Given the description of an element on the screen output the (x, y) to click on. 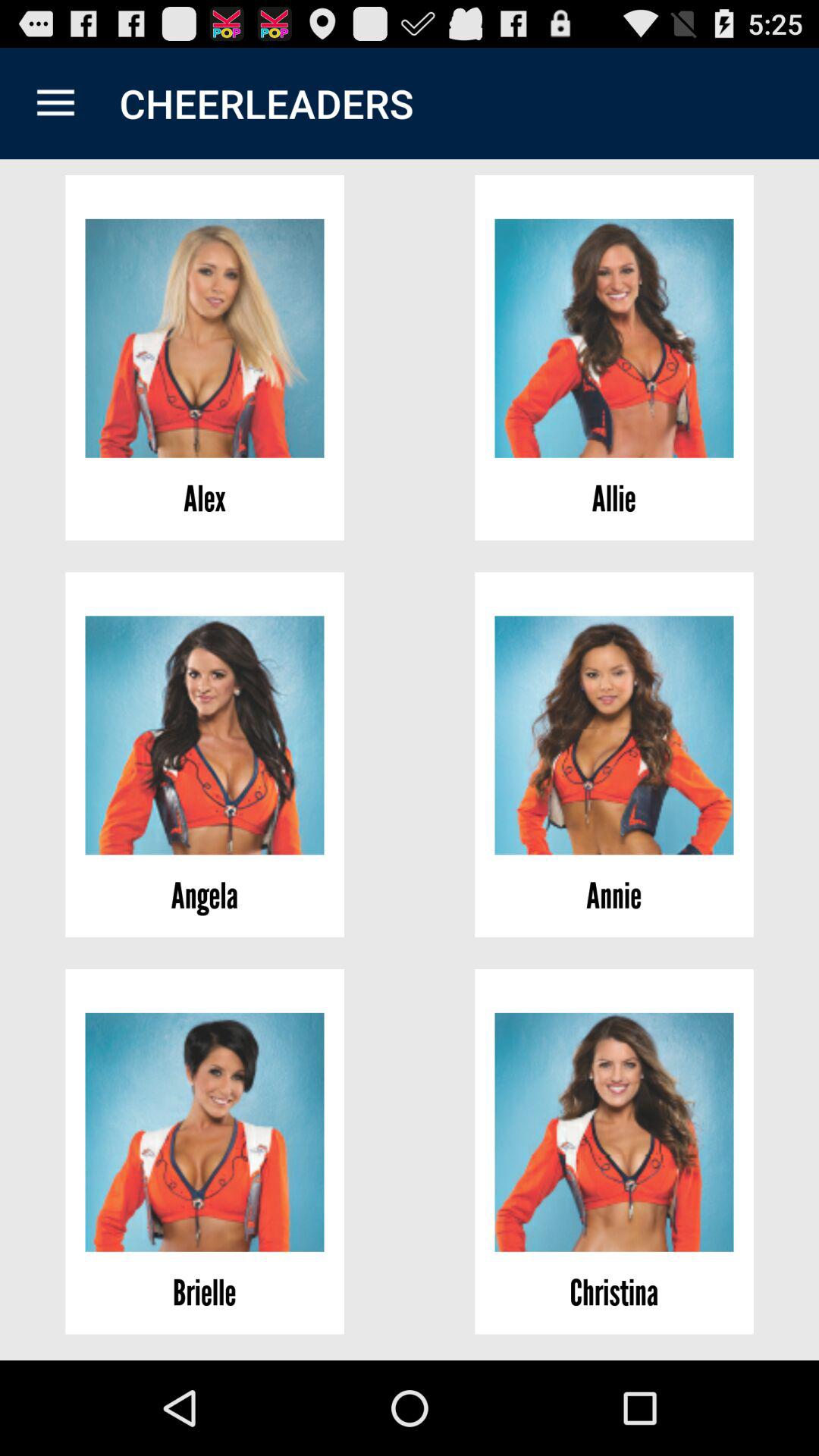
tap the icon to the left of the cheerleaders item (55, 103)
